Given the description of an element on the screen output the (x, y) to click on. 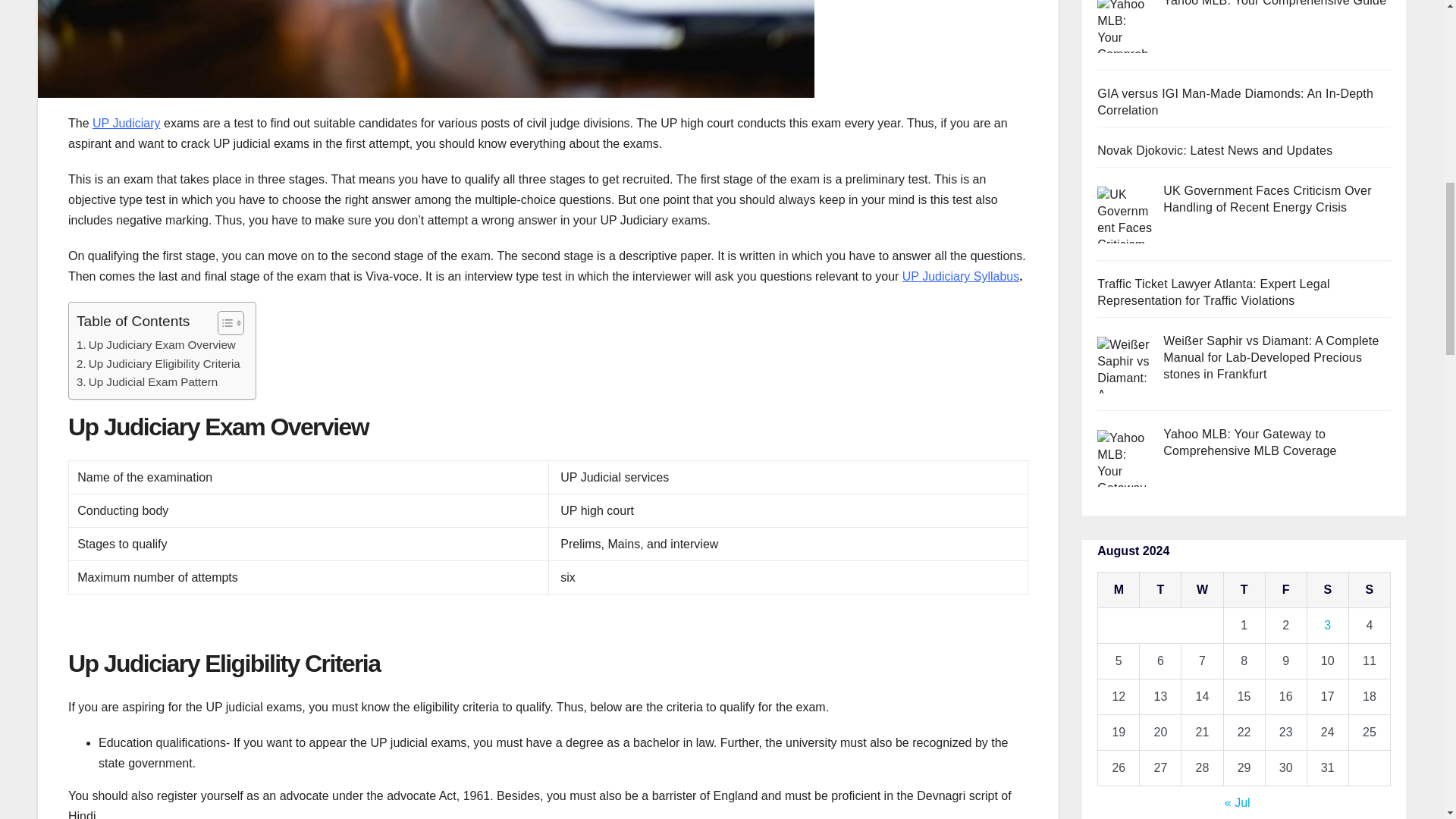
Up Judiciary Eligibility Criteria (158, 363)
Up Judicial Exam Pattern (146, 382)
Up Judiciary Exam Overview (156, 344)
UP Judiciary (126, 123)
Cracking Up Judiciary Exams 2020 In The First Attempt! (425, 48)
Up Judiciary Eligibility Criteria (158, 363)
Up Judiciary Exam Overview (156, 344)
UP Judiciary Syllabus (960, 276)
Up Judicial Exam Pattern (146, 382)
